Given the description of an element on the screen output the (x, y) to click on. 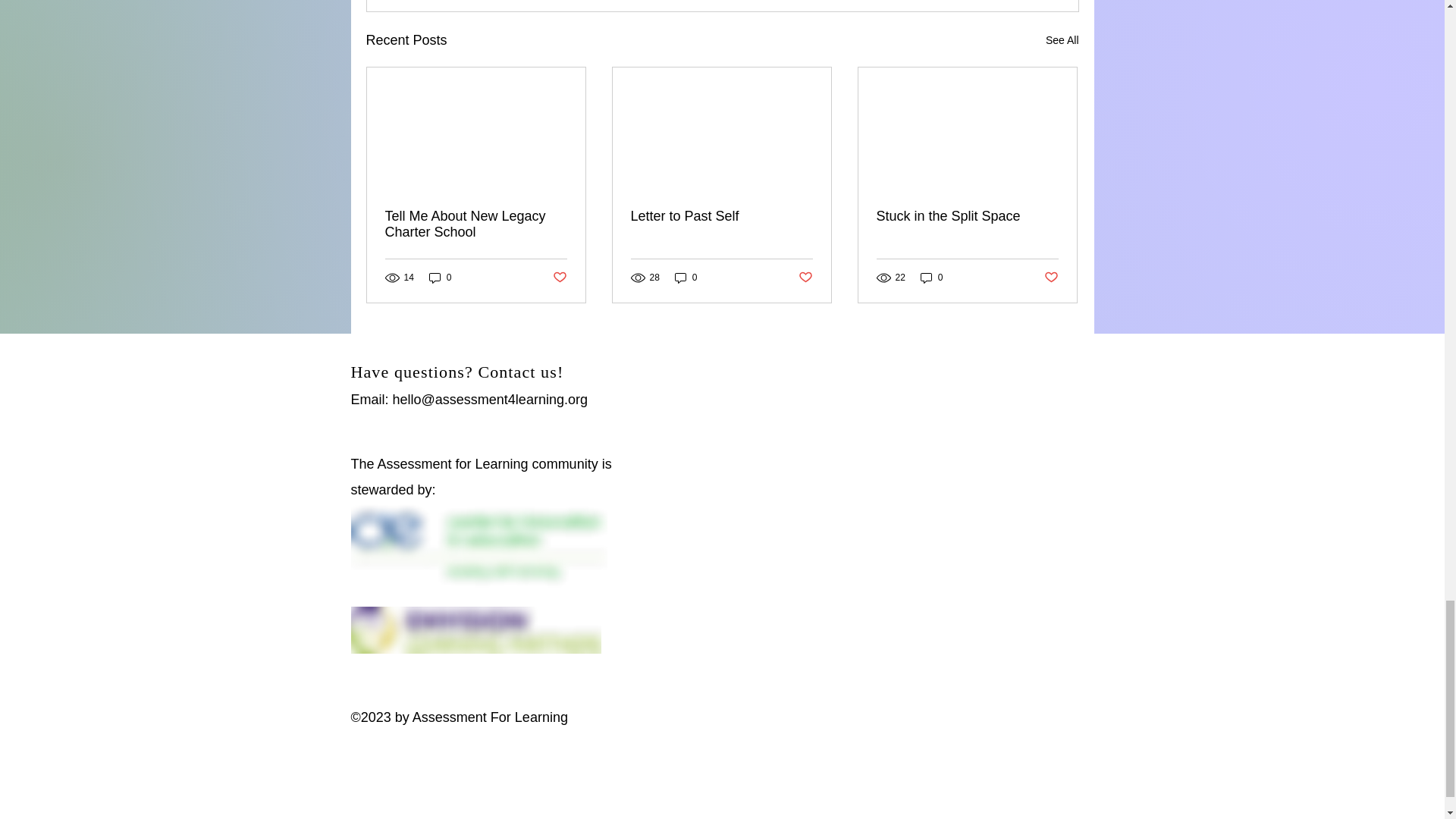
Post not marked as liked (1050, 277)
Stuck in the Split Space (967, 216)
0 (440, 278)
Tell Me About New Legacy Charter School (476, 224)
Letter to Past Self (721, 216)
See All (1061, 40)
Post not marked as liked (558, 277)
Post not marked as liked (804, 277)
0 (685, 278)
0 (931, 278)
